Given the description of an element on the screen output the (x, y) to click on. 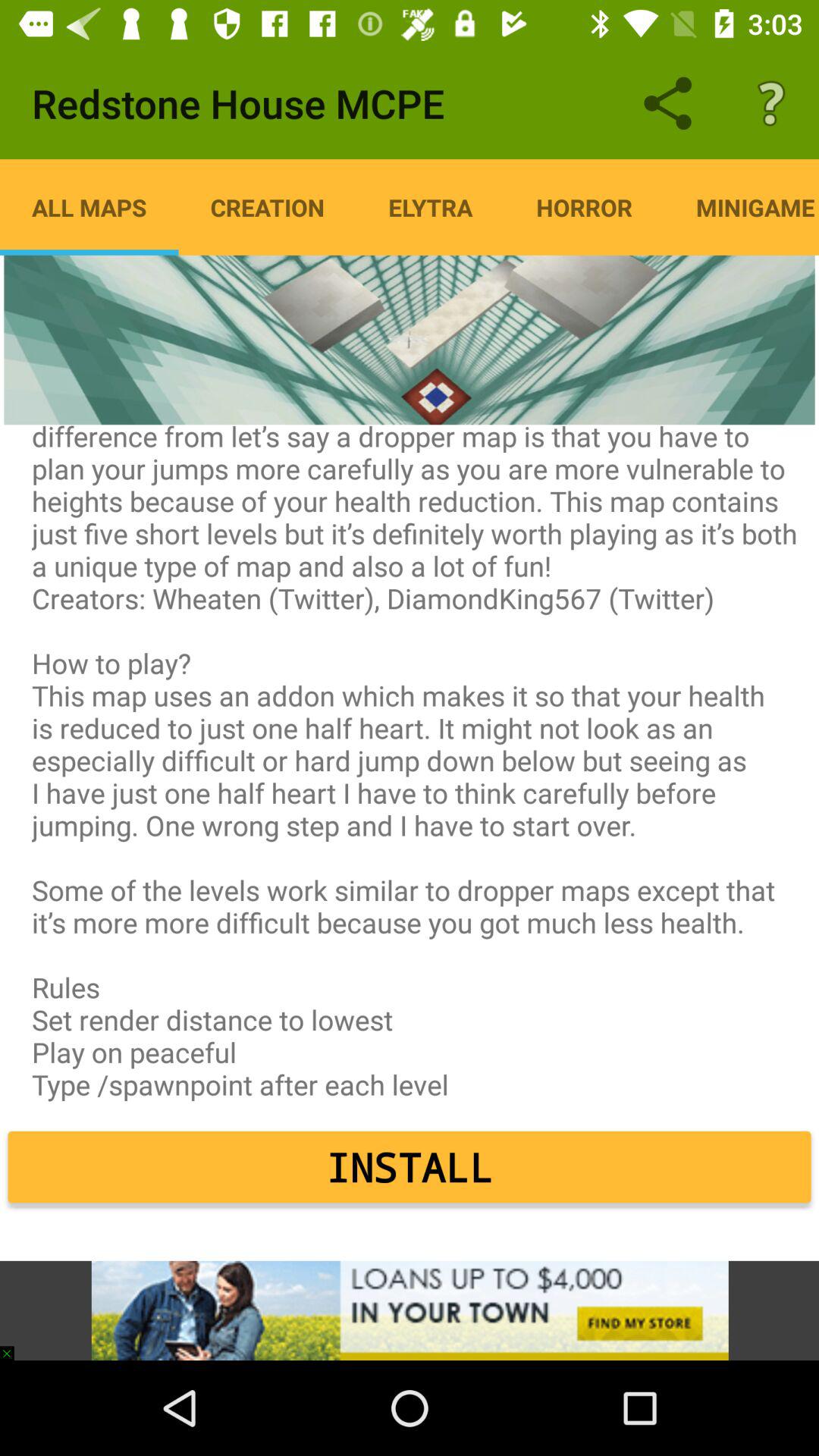
click item to the left of the elytra icon (267, 207)
